Given the description of an element on the screen output the (x, y) to click on. 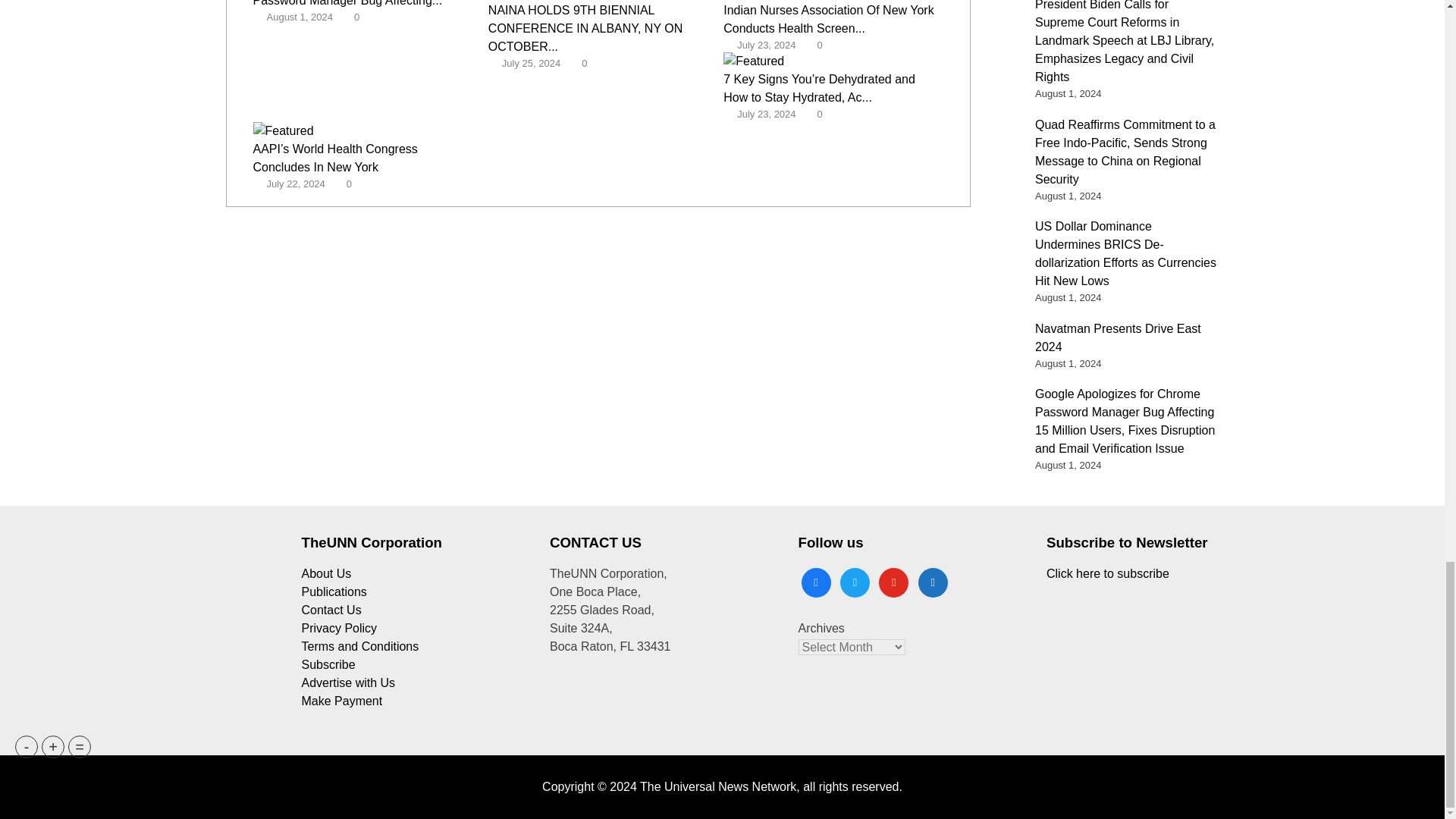
Default Label (932, 581)
Default Label (893, 581)
Twitter (854, 581)
Facebook (814, 581)
